Given the description of an element on the screen output the (x, y) to click on. 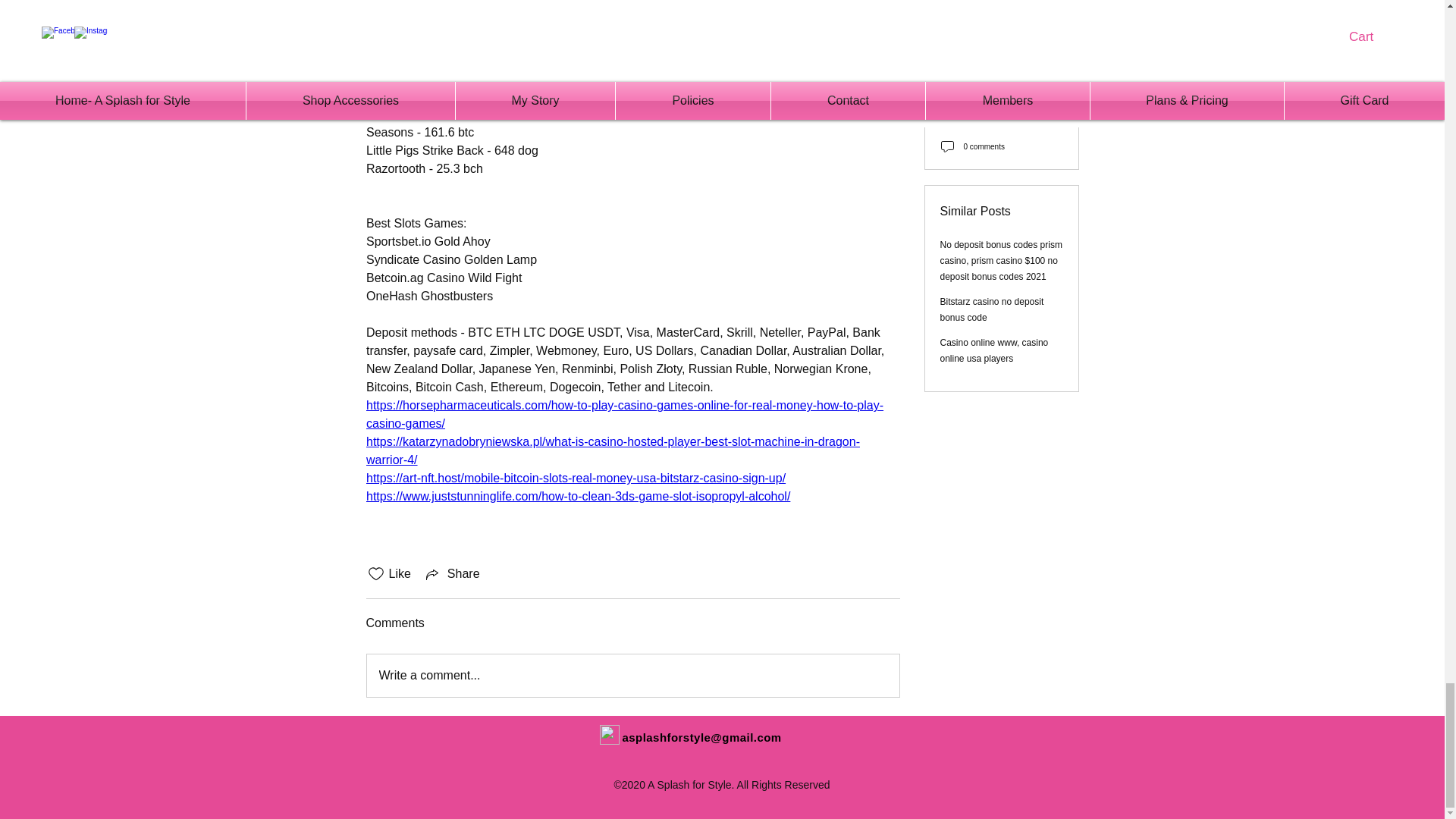
Share (451, 574)
Write a comment... (632, 675)
